Given the description of an element on the screen output the (x, y) to click on. 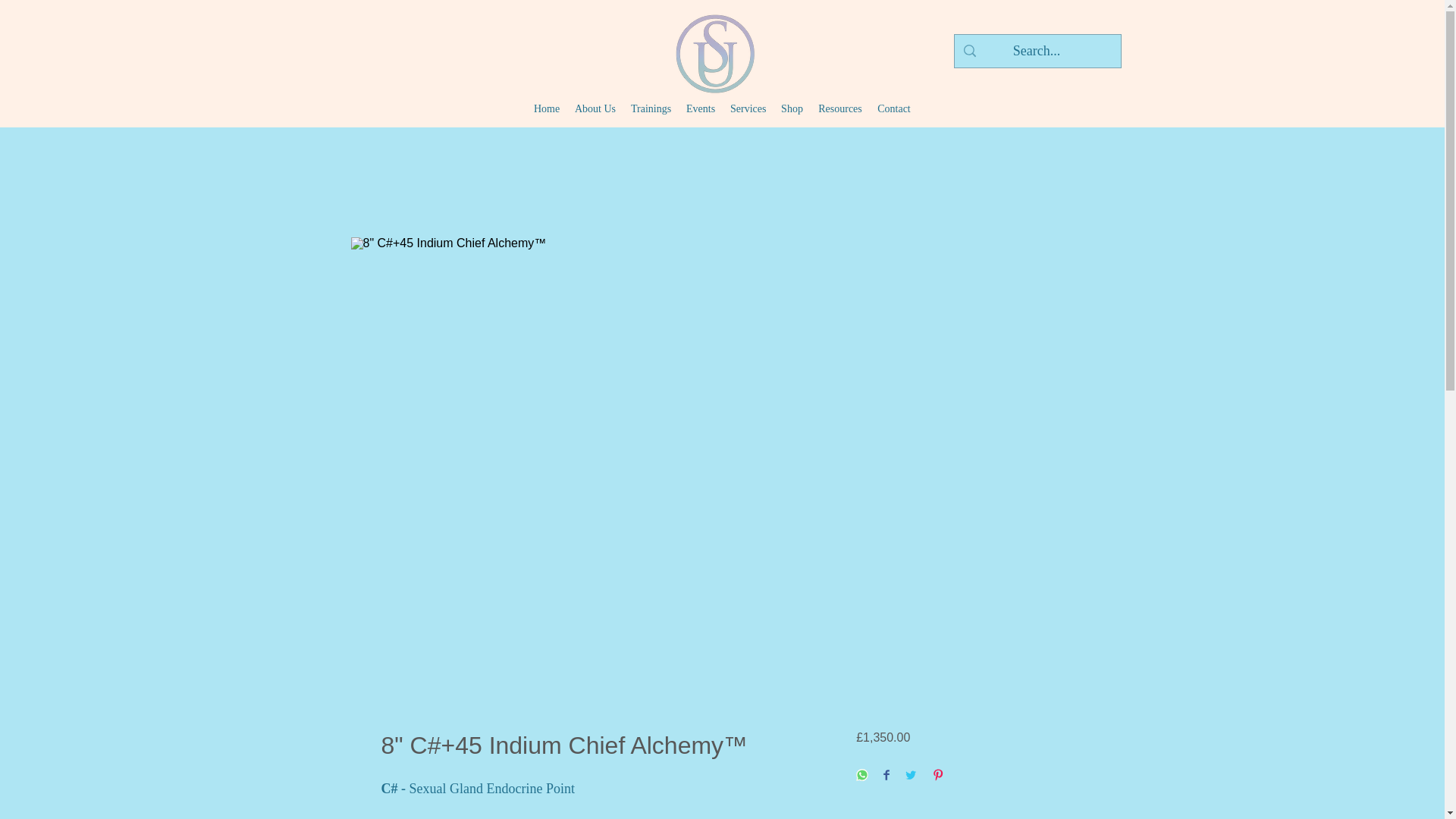
Events (700, 108)
Resources (839, 108)
Shop (791, 108)
Services (747, 108)
Home (546, 108)
About Us (595, 108)
Trainings (650, 108)
Contact (893, 108)
